Given the description of an element on the screen output the (x, y) to click on. 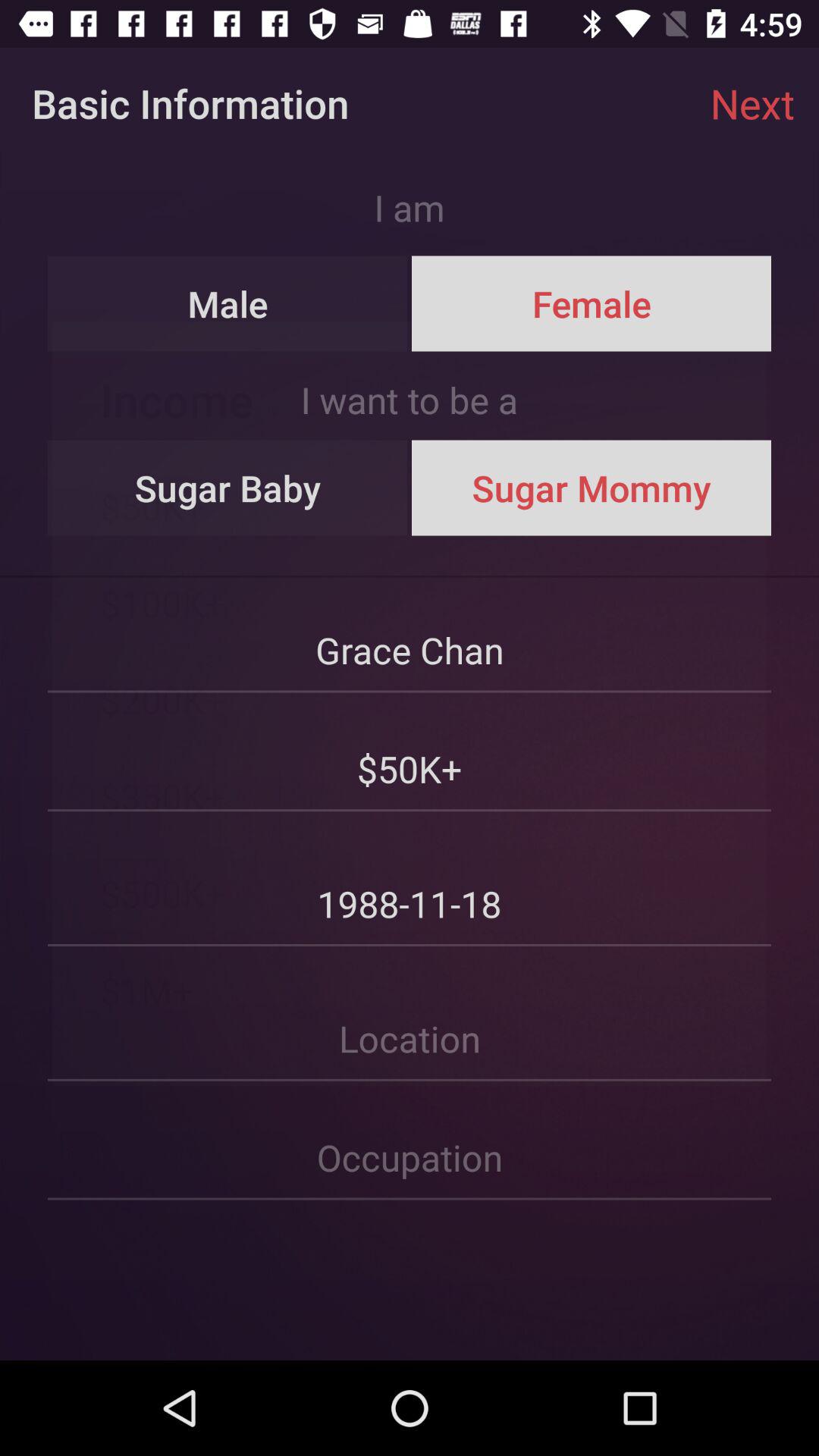
click the icon to the right of basic information icon (752, 103)
